Given the description of an element on the screen output the (x, y) to click on. 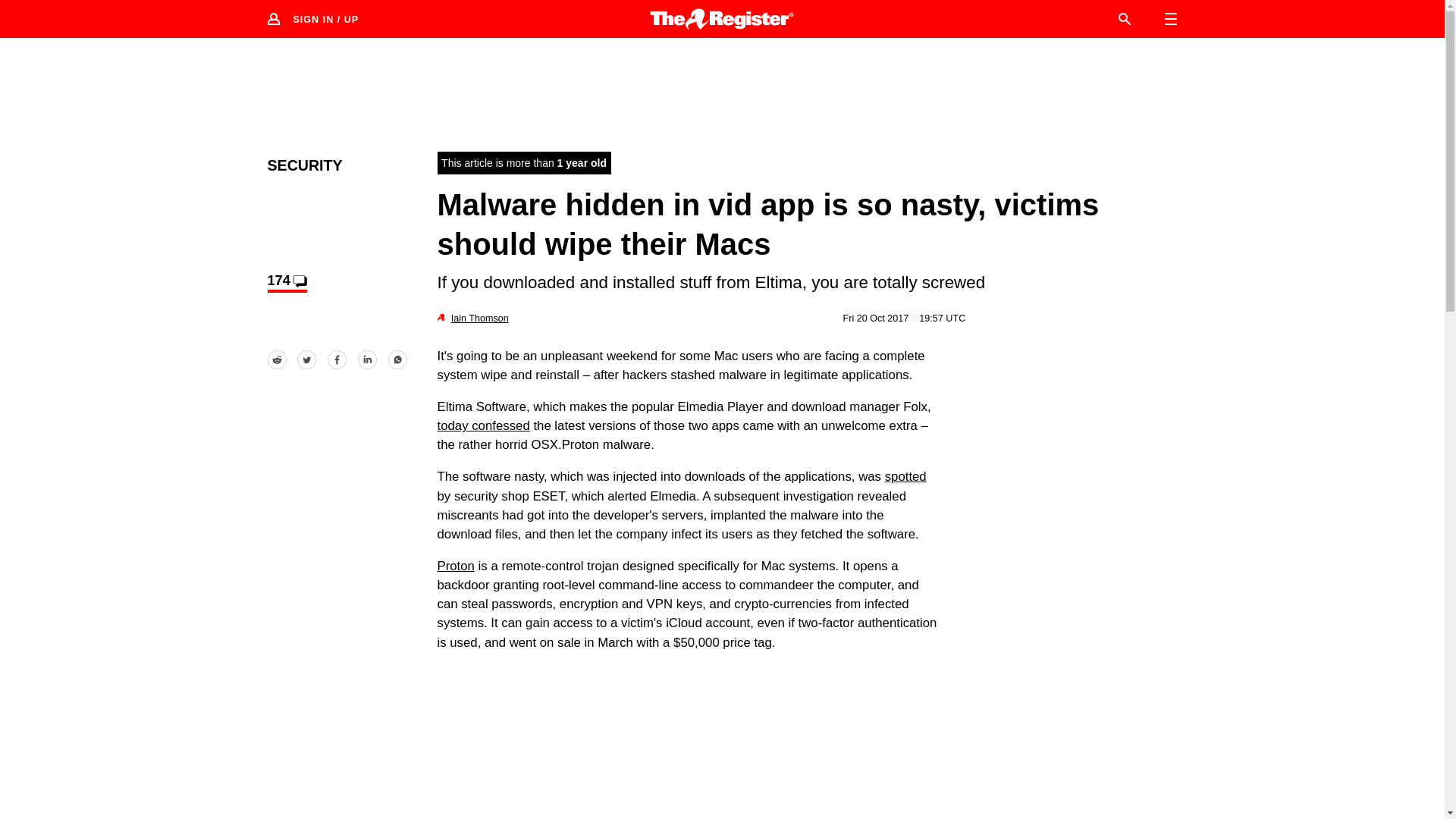
Read more by this author (479, 318)
View comments on this article (285, 282)
